Given the description of an element on the screen output the (x, y) to click on. 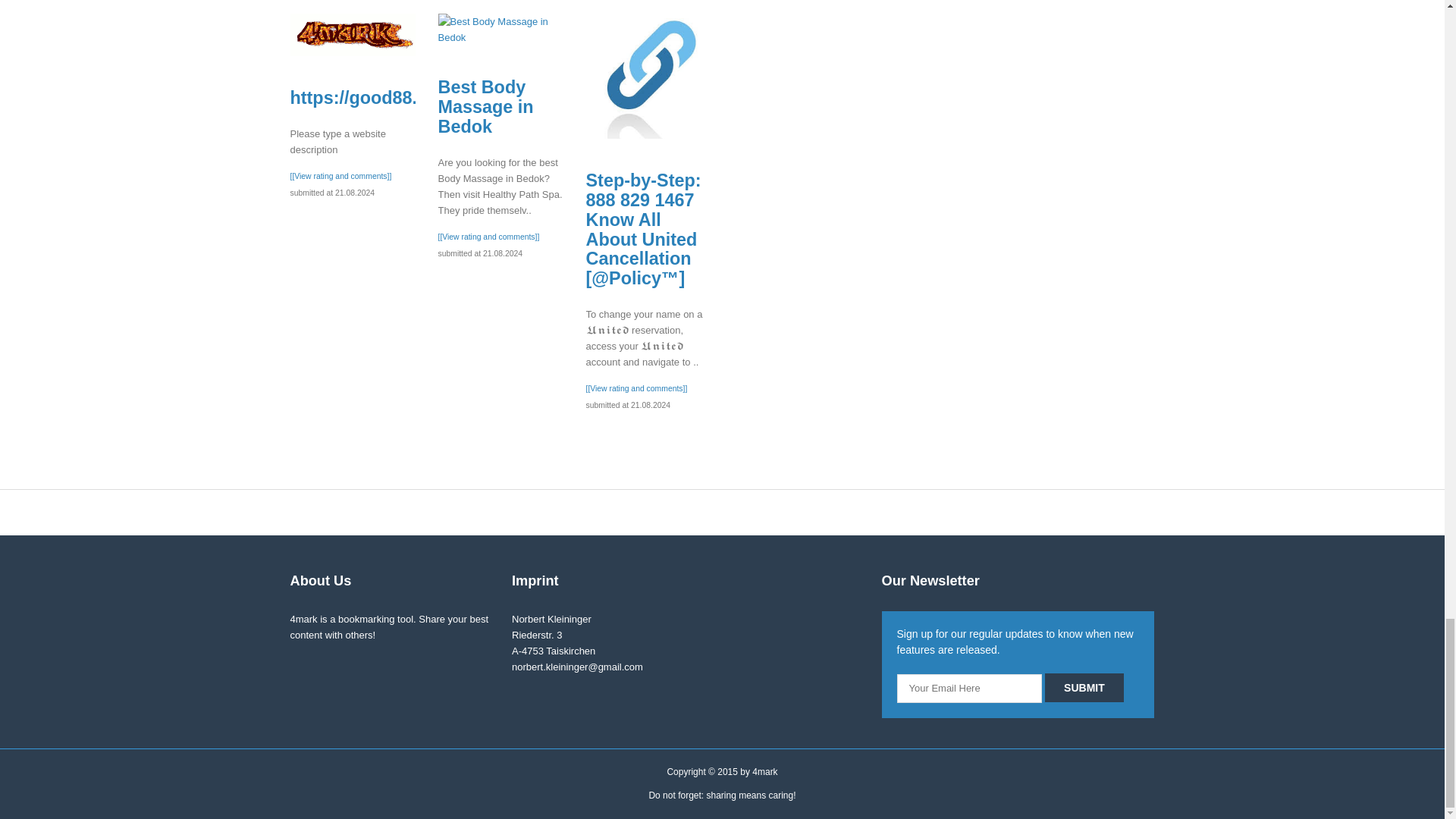
Submit (1084, 687)
Email (969, 688)
Best Body Massage in Bedok (500, 29)
